Given the description of an element on the screen output the (x, y) to click on. 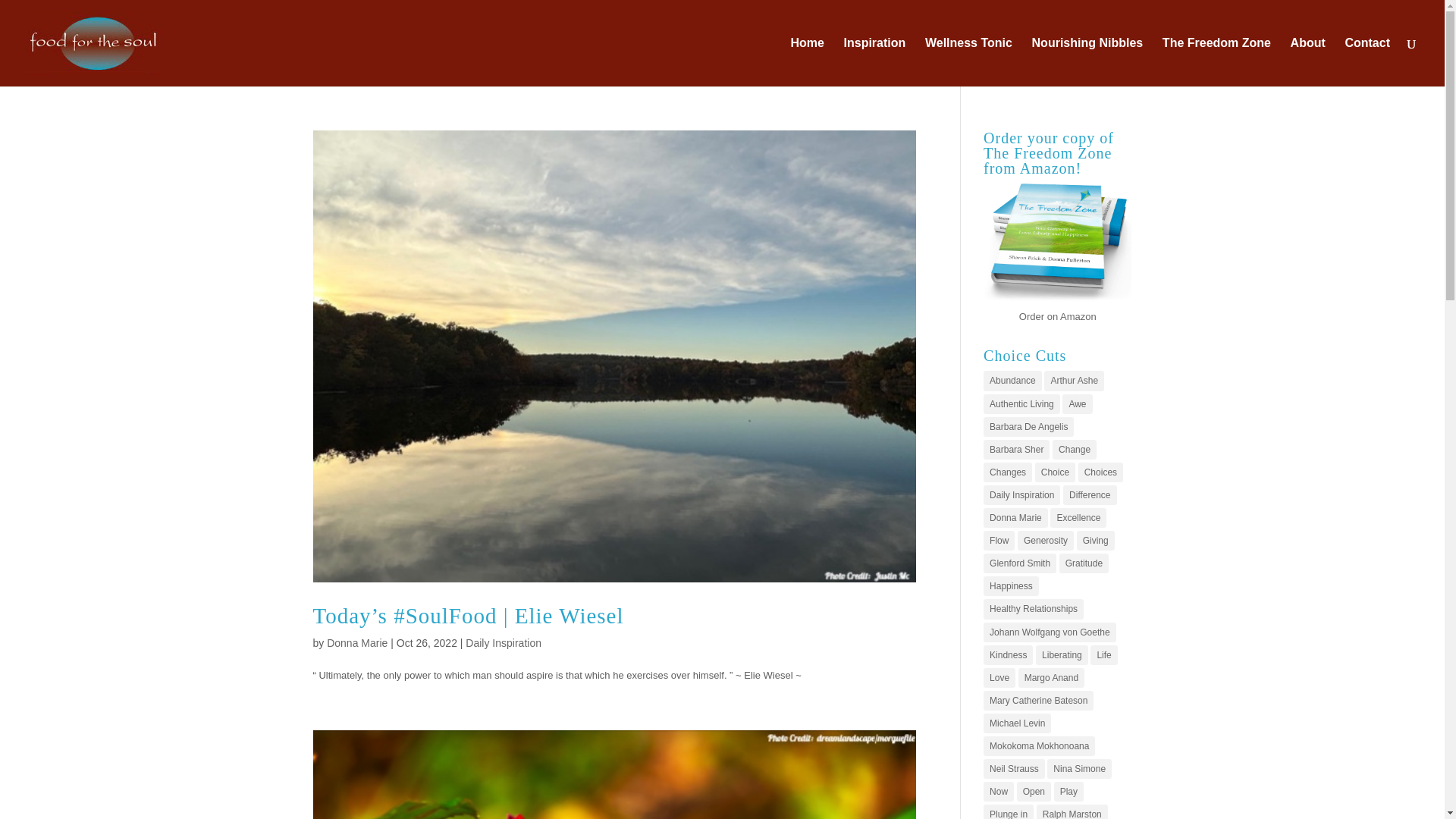
Barbara Sher (1016, 449)
Awe (1077, 403)
Nourishing Nibbles (1087, 61)
Order on Amazon (1057, 316)
Daily Inspiration (503, 643)
Barbara De Angelis (1029, 426)
Abundance (1013, 380)
Posts by Donna Marie (356, 643)
Wellness Tonic (967, 61)
Authentic Living (1021, 403)
The Freedom Zone (1057, 316)
The Freedom Zone (1216, 61)
Contact (1366, 61)
The Freedom Zone (1057, 299)
Donna Marie (356, 643)
